Given the description of an element on the screen output the (x, y) to click on. 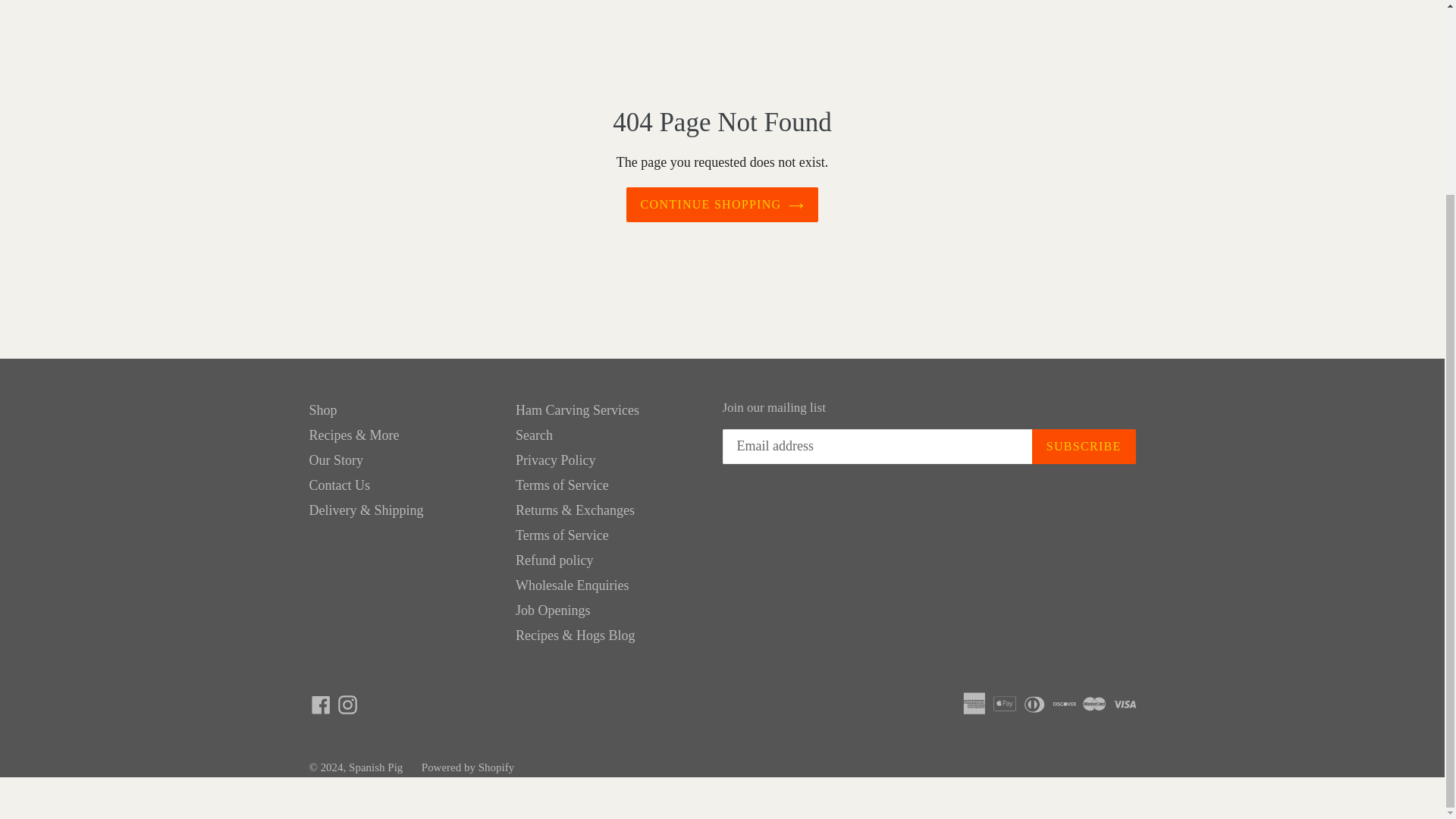
Spanish Pig on Facebook (320, 702)
Spanish Pig on Instagram (347, 702)
